Given the description of an element on the screen output the (x, y) to click on. 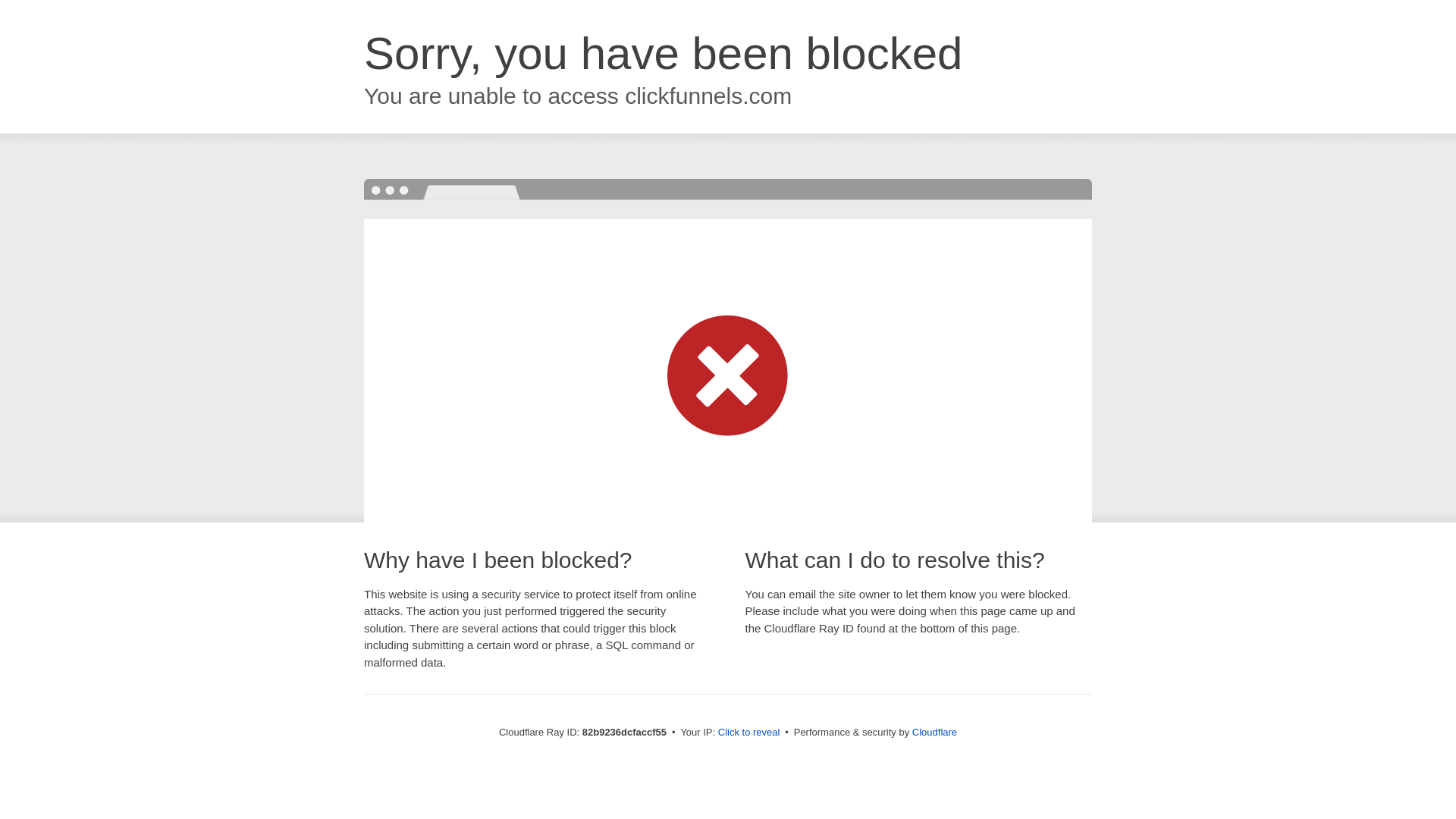
Cloudflare Element type: text (934, 731)
Click to reveal Element type: text (749, 732)
